Given the description of an element on the screen output the (x, y) to click on. 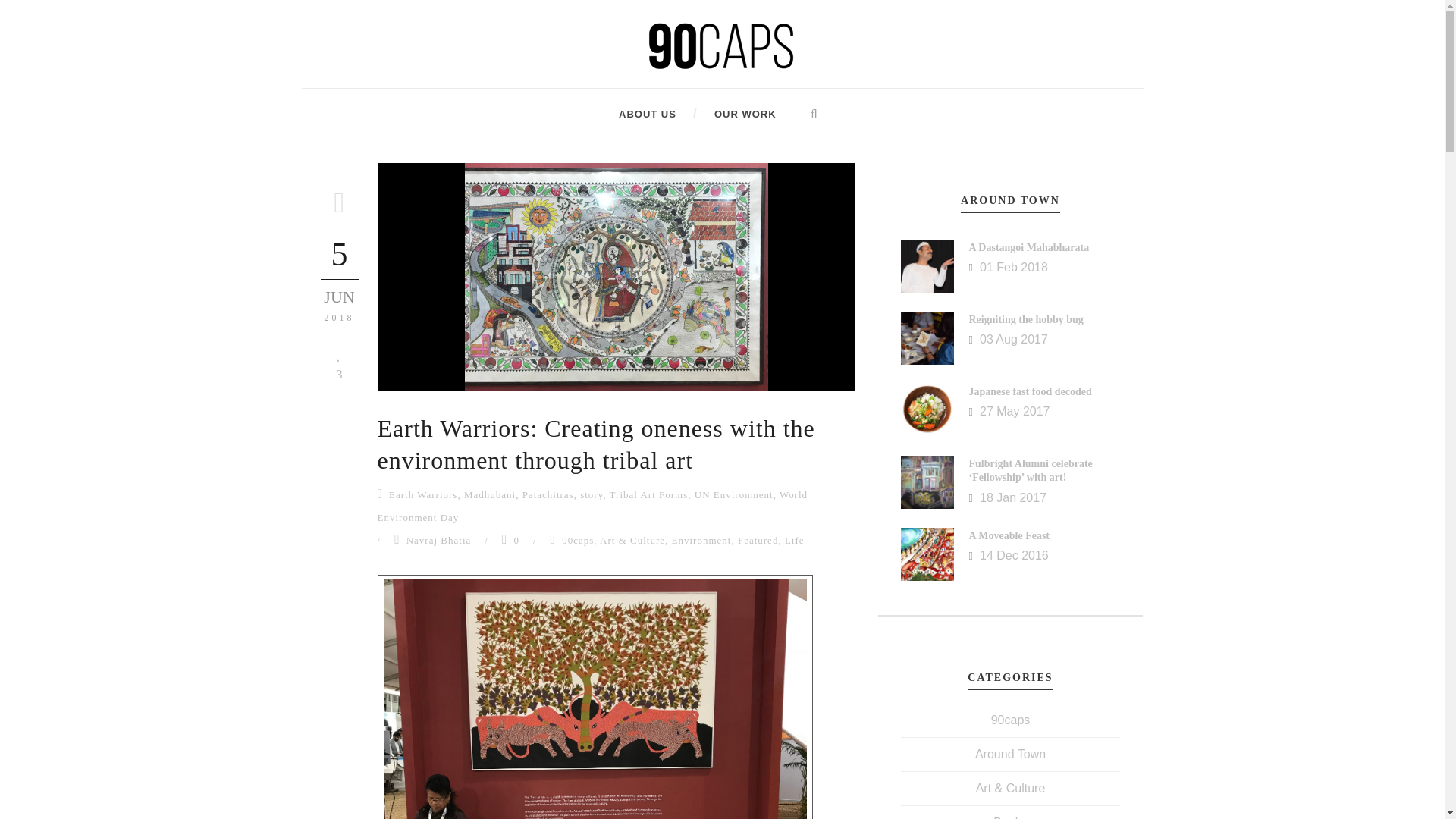
Madhubani (489, 494)
ABOUT US (647, 114)
Tribal Art Forms (649, 494)
OUR WORK (726, 114)
World Environment Day (592, 505)
story (590, 494)
Environment (701, 540)
Patachitras (547, 494)
Posts by Navraj Bhatia (438, 540)
UN Environment (733, 494)
90caps (578, 540)
Life (794, 540)
Navraj Bhatia (438, 540)
Featured (757, 540)
Earth Warriors (422, 494)
